Given the description of an element on the screen output the (x, y) to click on. 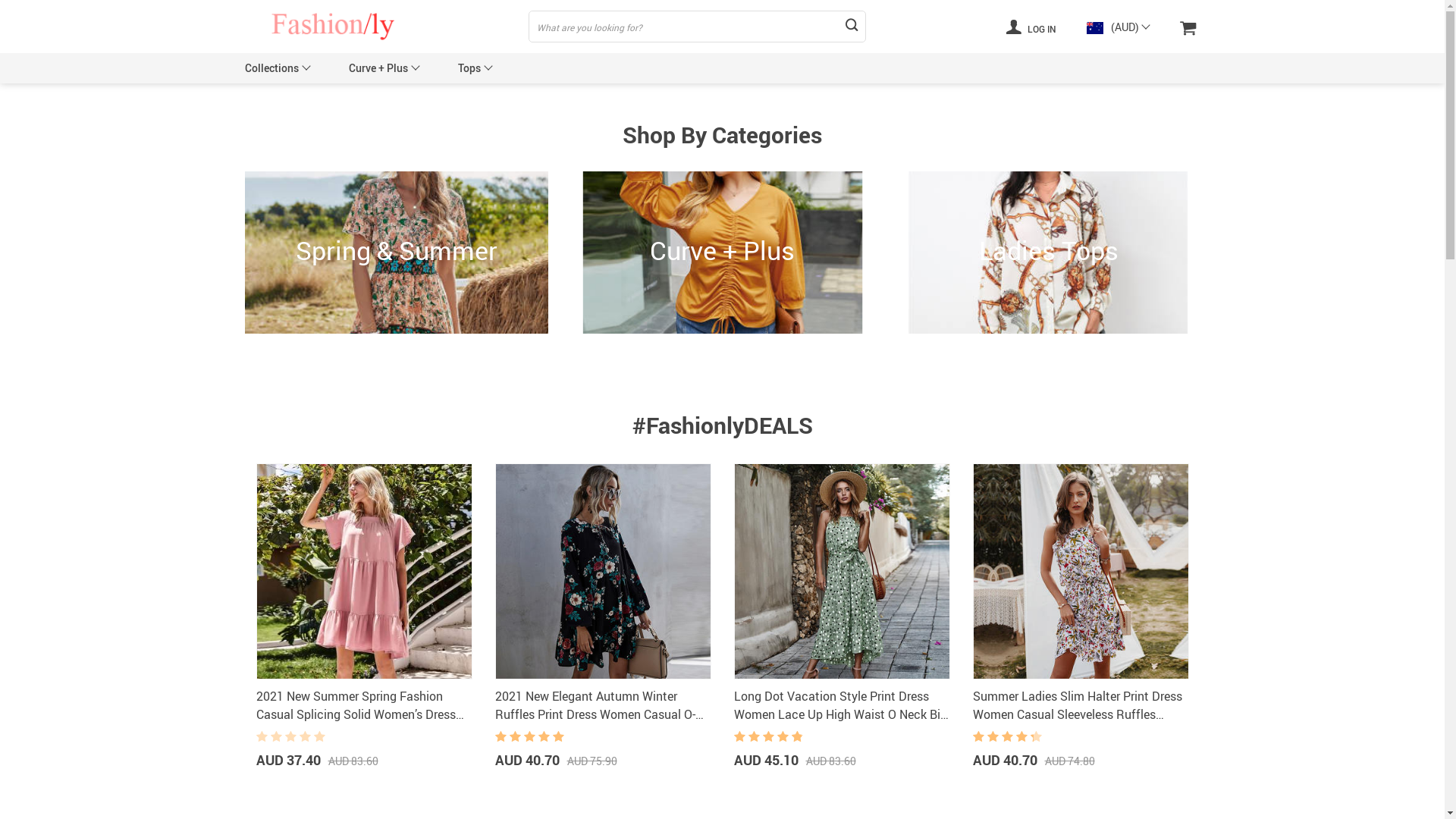
Ladies Tops Element type: text (1047, 252)
Curve + Plus Element type: text (721, 252)
Tops Element type: text (469, 67)
Collections Element type: text (271, 67)
Spring & Summer Element type: text (395, 252)
LOG IN Element type: text (1031, 26)
Curve + Plus Element type: text (377, 67)
#FashionlyDEALS Element type: text (722, 424)
